Given the description of an element on the screen output the (x, y) to click on. 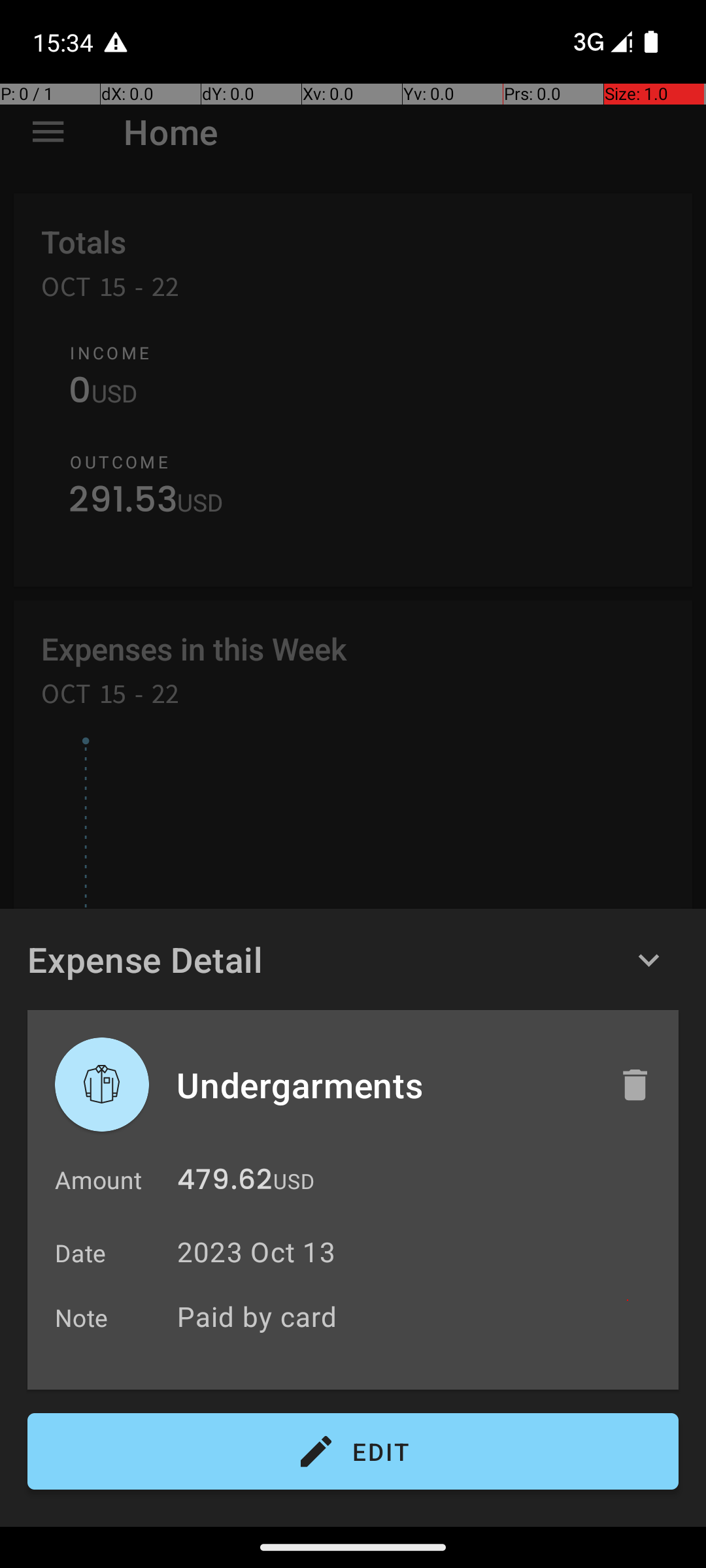
Expense Detail Element type: android.widget.TextView (145, 959)
Undergarments Element type: android.widget.TextView (383, 1084)
Amount Element type: android.widget.TextView (97, 1179)
479.62 Element type: android.widget.TextView (224, 1182)
USD Element type: android.widget.TextView (293, 1180)
Date Element type: android.widget.TextView (80, 1252)
2023 Oct 13 Element type: android.widget.TextView (256, 1251)
Note Element type: android.widget.TextView (81, 1317)
Paid by card Element type: android.widget.TextView (420, 1315)
EDIT Element type: android.widget.Button (352, 1451)
